Given the description of an element on the screen output the (x, y) to click on. 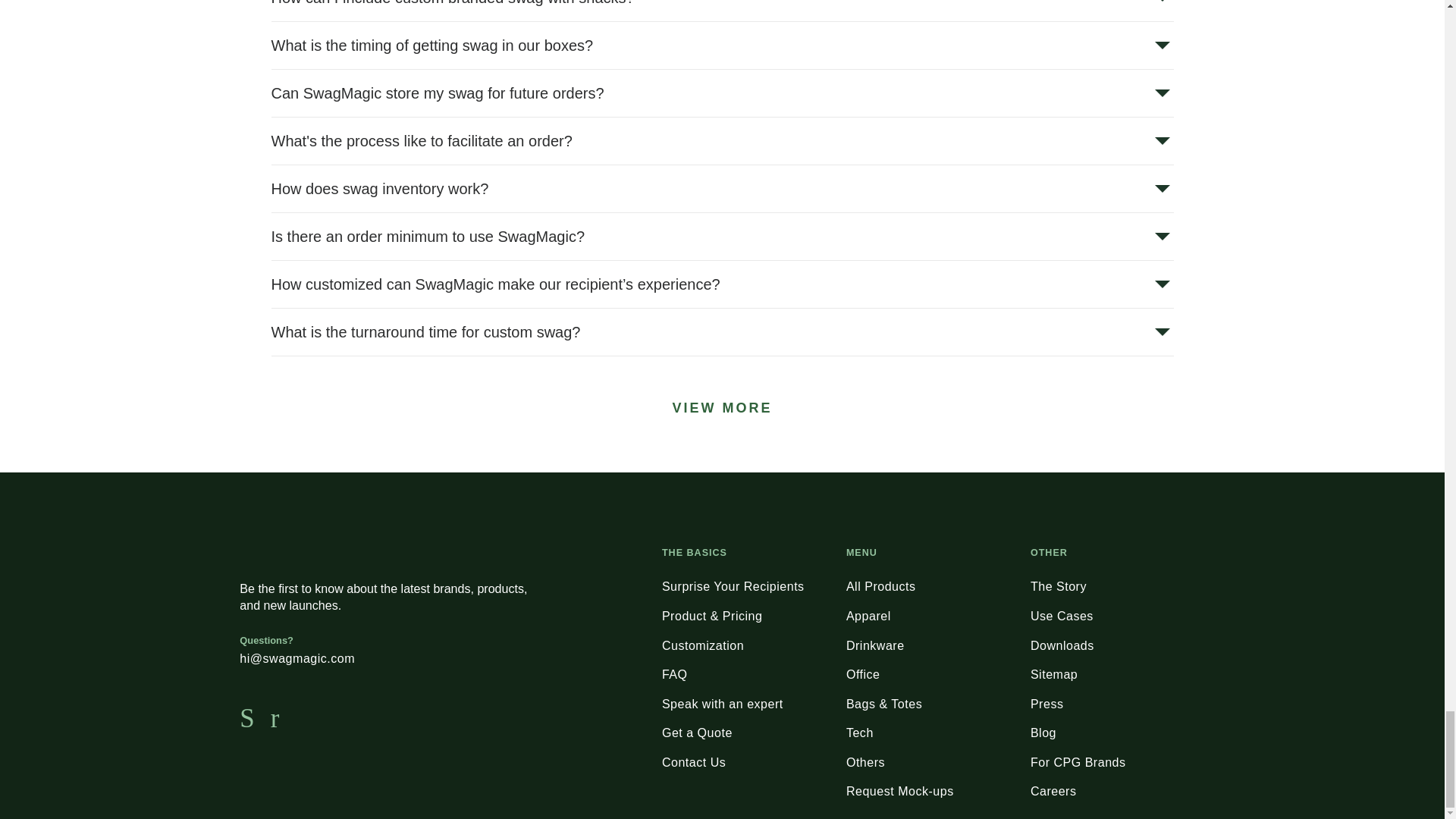
Can SwagMagic store my swag for future orders? (721, 93)
What is the turnaround time for custom swag? (721, 331)
Is there an order minimum to use SwagMagic? (721, 236)
How can I include custom branded swag with snacks? (721, 7)
What's the process like to facilitate an order? (721, 140)
What is the timing of getting swag in our boxes? (721, 45)
How does swag inventory work? (721, 188)
